Given the description of an element on the screen output the (x, y) to click on. 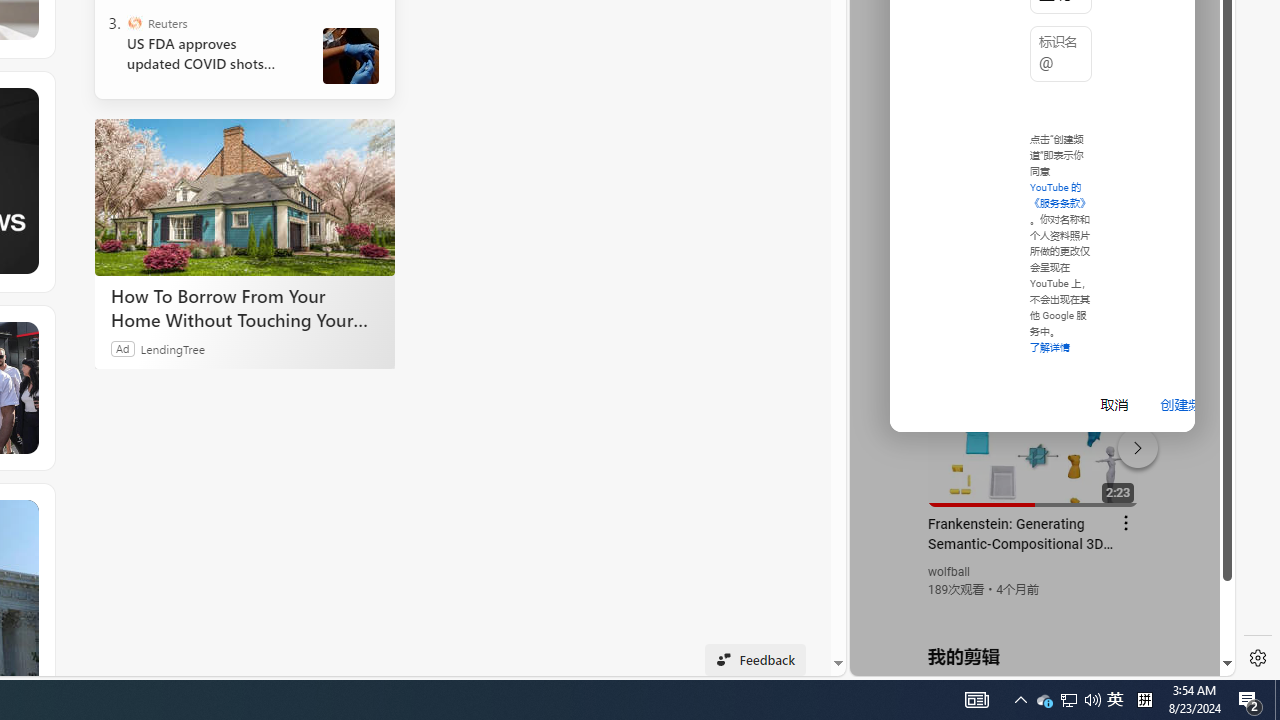
Global web icon (888, 432)
How To Borrow From Your Home Without Touching Your Mortgage (244, 196)
US[ju] (917, 660)
YouTube (1034, 432)
Ad (123, 348)
